Given the description of an element on the screen output the (x, y) to click on. 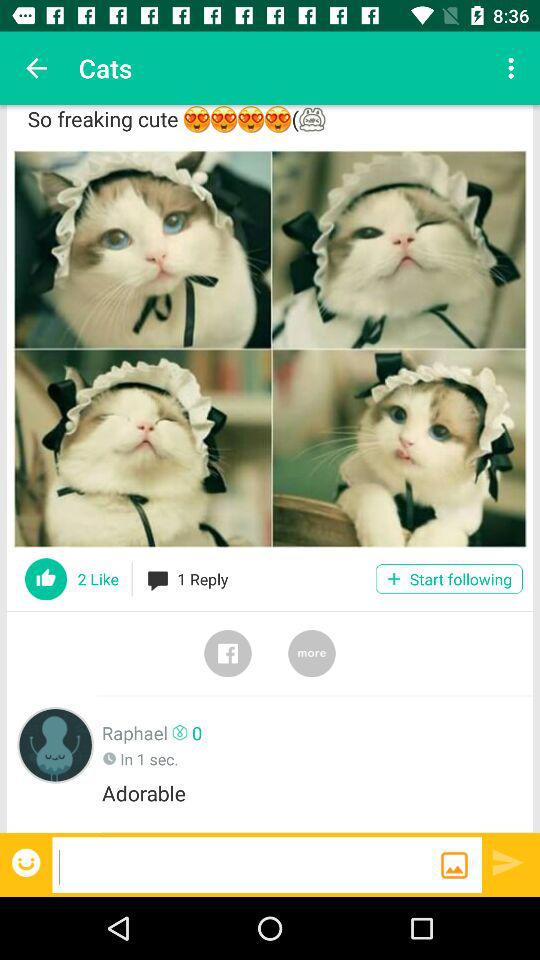
choose image (269, 348)
